Given the description of an element on the screen output the (x, y) to click on. 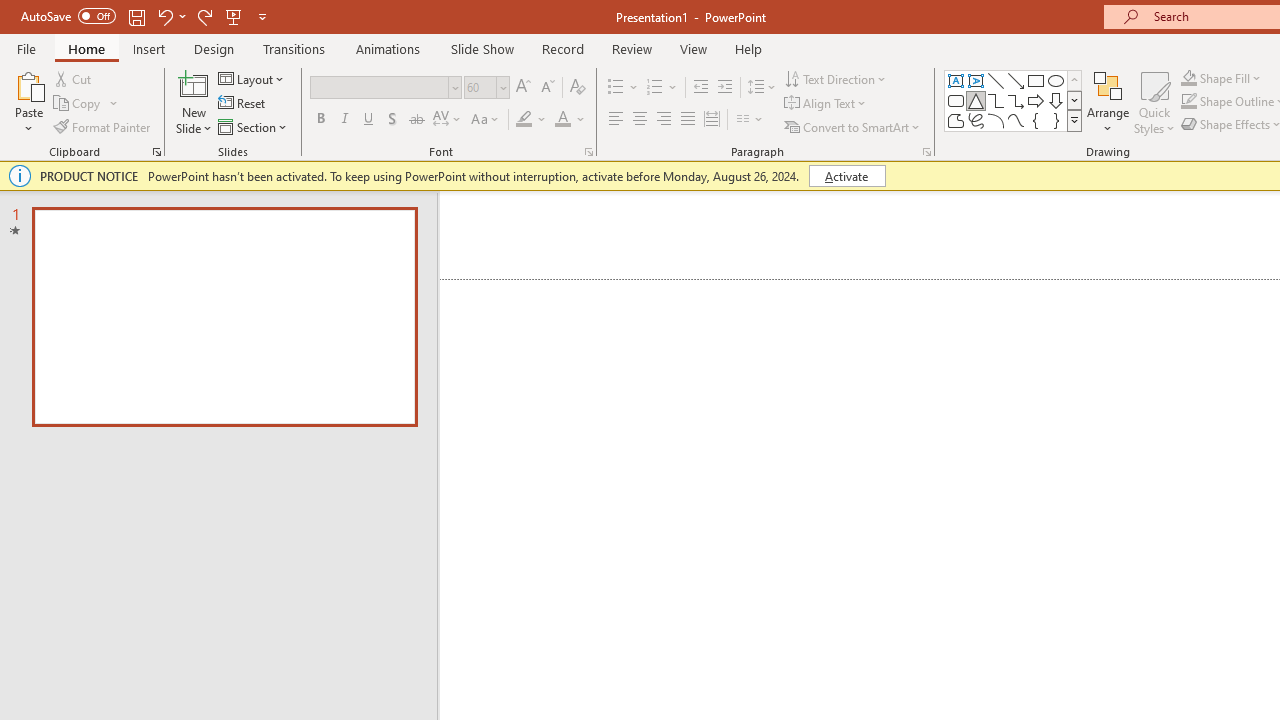
Italic (344, 119)
Arrow: Right (1035, 100)
Left Brace (1035, 120)
Arc (995, 120)
AutomationID: ShapesInsertGallery (1014, 100)
Bullets (623, 87)
Format Painter (103, 126)
Open (502, 87)
Decrease Font Size (547, 87)
Underline (369, 119)
Text Direction (836, 78)
Font (385, 87)
Arrange (1108, 102)
